Given the description of an element on the screen output the (x, y) to click on. 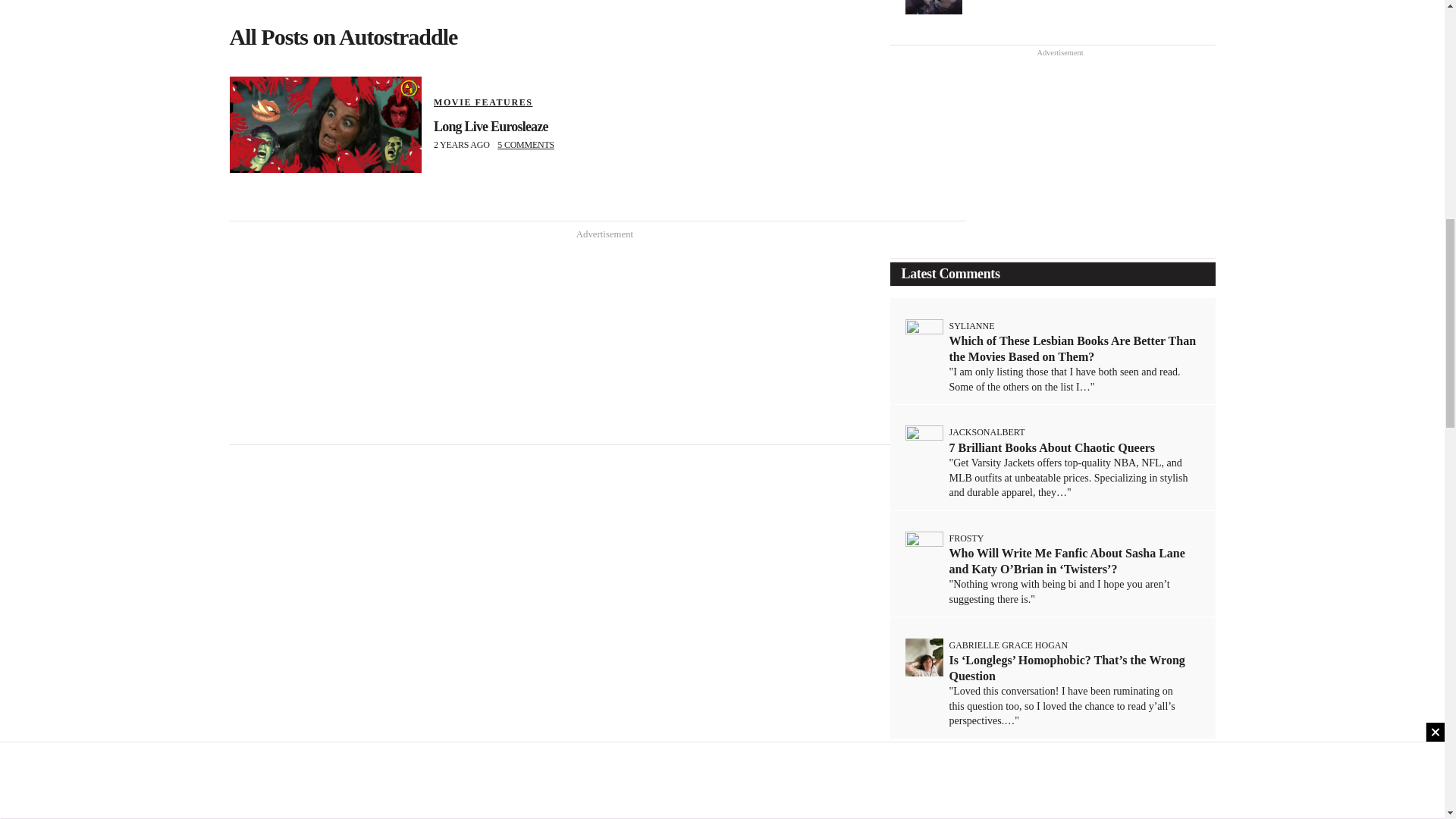
3rd party ad content (1052, 801)
Permalink to Long Live Eurosleaze (325, 124)
3rd party ad content (1052, 155)
Permalink to Long Live Eurosleaze (490, 126)
3rd party ad content (597, 341)
